Given the description of an element on the screen output the (x, y) to click on. 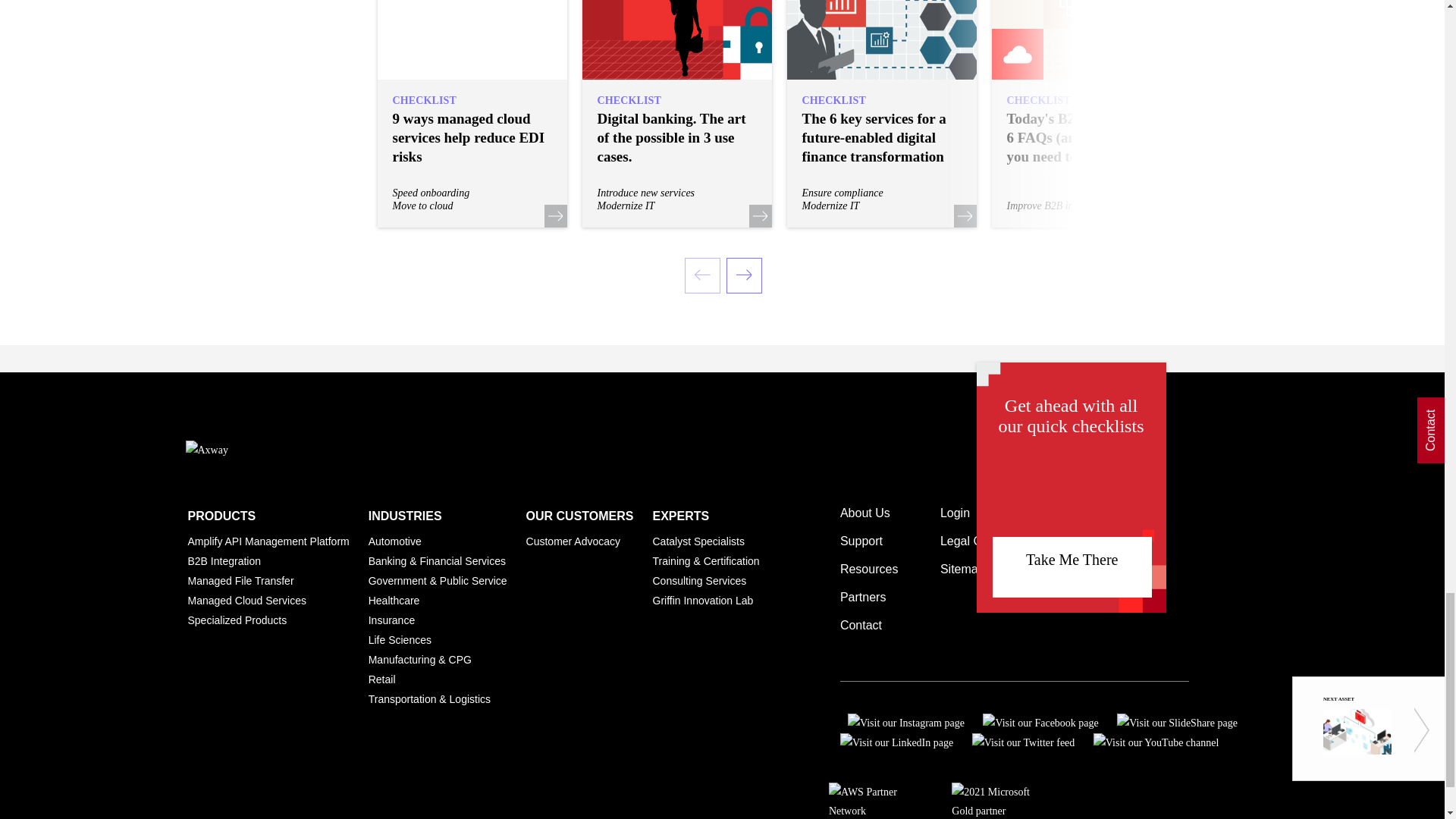
Instagram (901, 721)
YouTube (1156, 741)
Facebook (1039, 721)
LinkedIn (896, 741)
Slideshare (1176, 721)
Twitter (1023, 741)
